Given the description of an element on the screen output the (x, y) to click on. 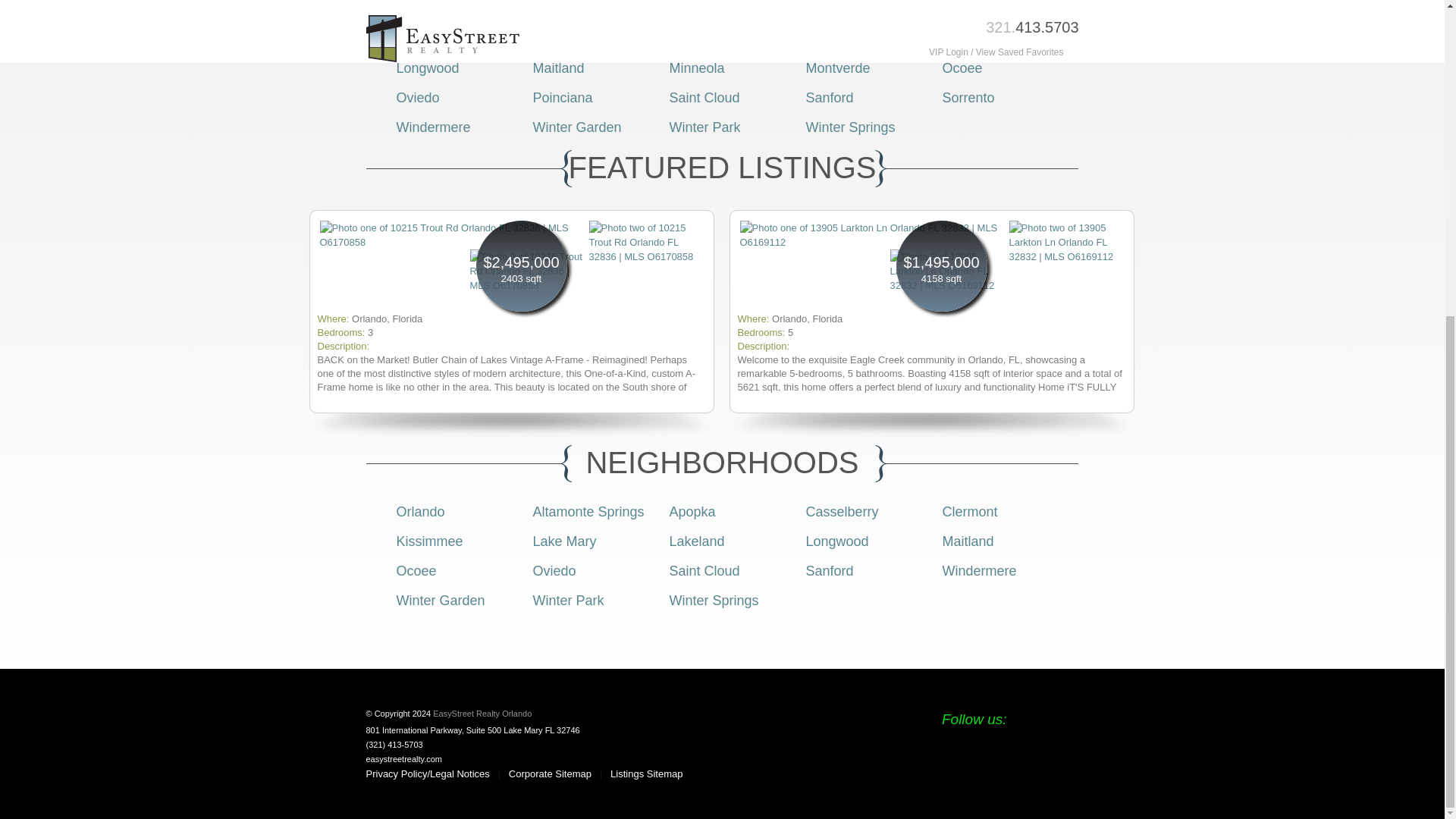
Orlando (420, 8)
Poinciana (562, 97)
View Altamonte Springs, FL homes for sale. (587, 8)
Saint Cloud (703, 97)
Maitland (557, 68)
Altamonte Springs (587, 511)
Minneola (695, 68)
View Kissimmee, FL homes for sale. (701, 38)
Orlando (420, 511)
View Clermont, FL homes for sale. (423, 38)
